Given the description of an element on the screen output the (x, y) to click on. 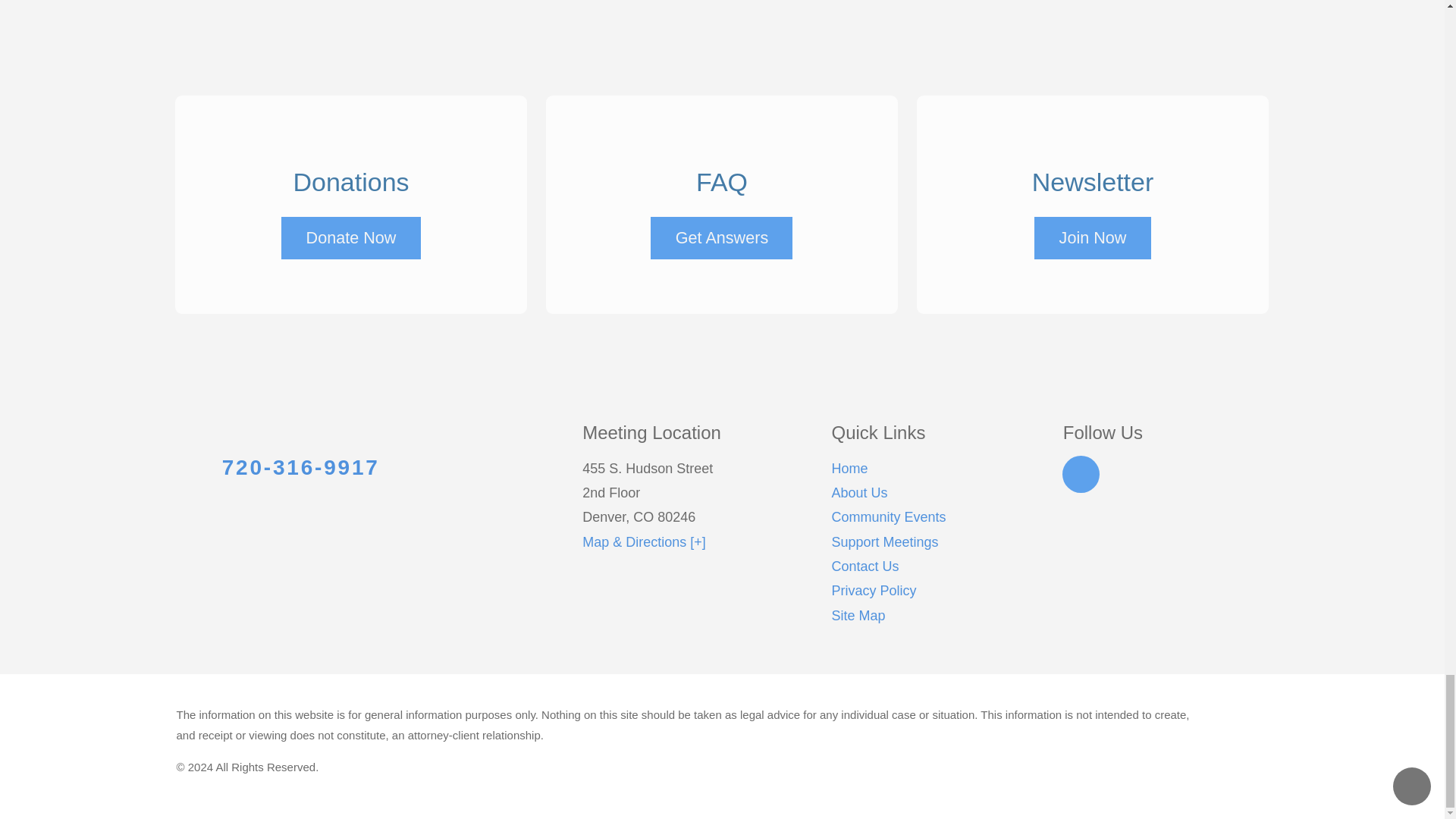
Facebook (1081, 474)
